Given the description of an element on the screen output the (x, y) to click on. 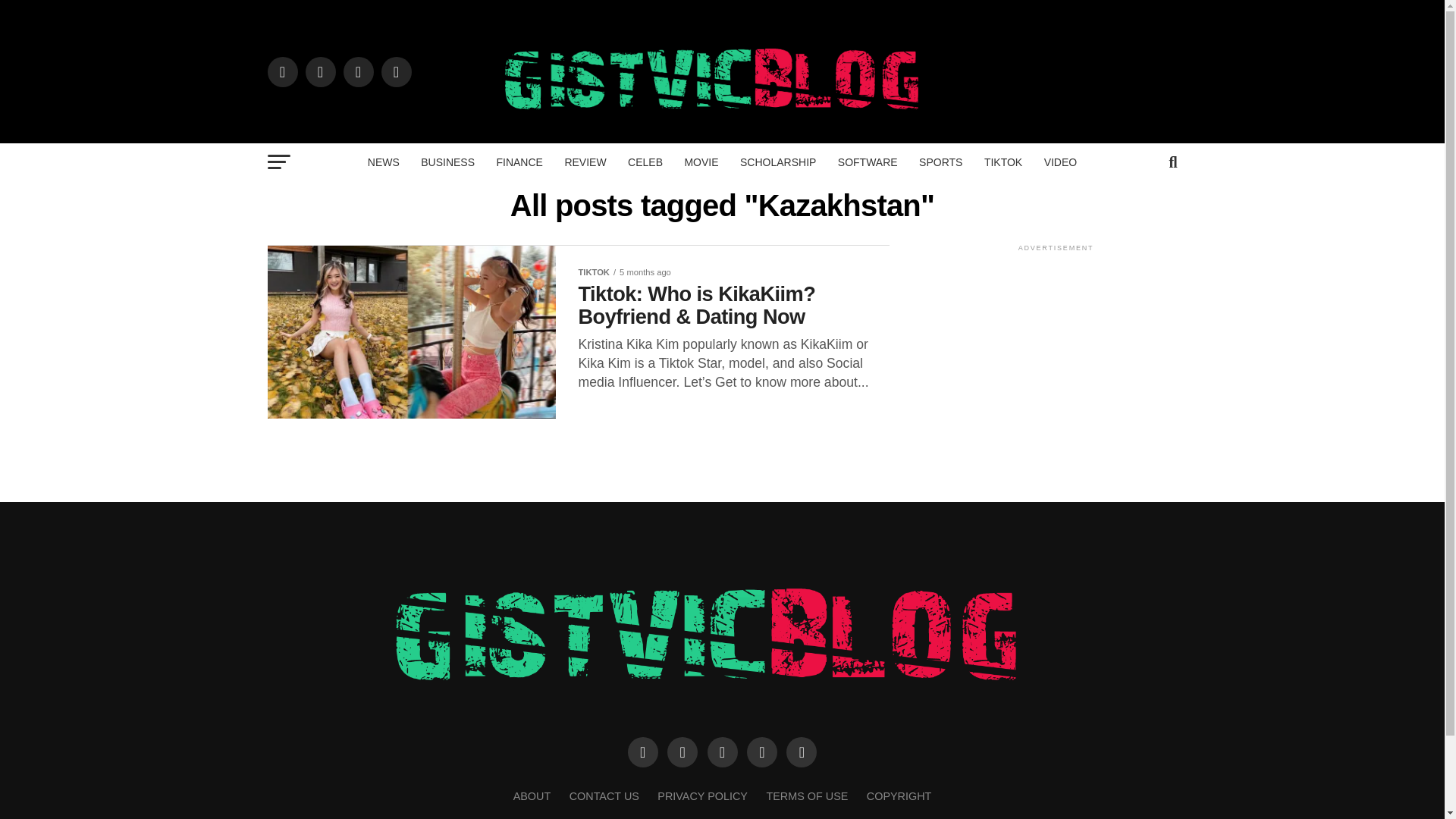
FINANCE (518, 161)
NEWS (383, 161)
BUSINESS (447, 161)
